Given the description of an element on the screen output the (x, y) to click on. 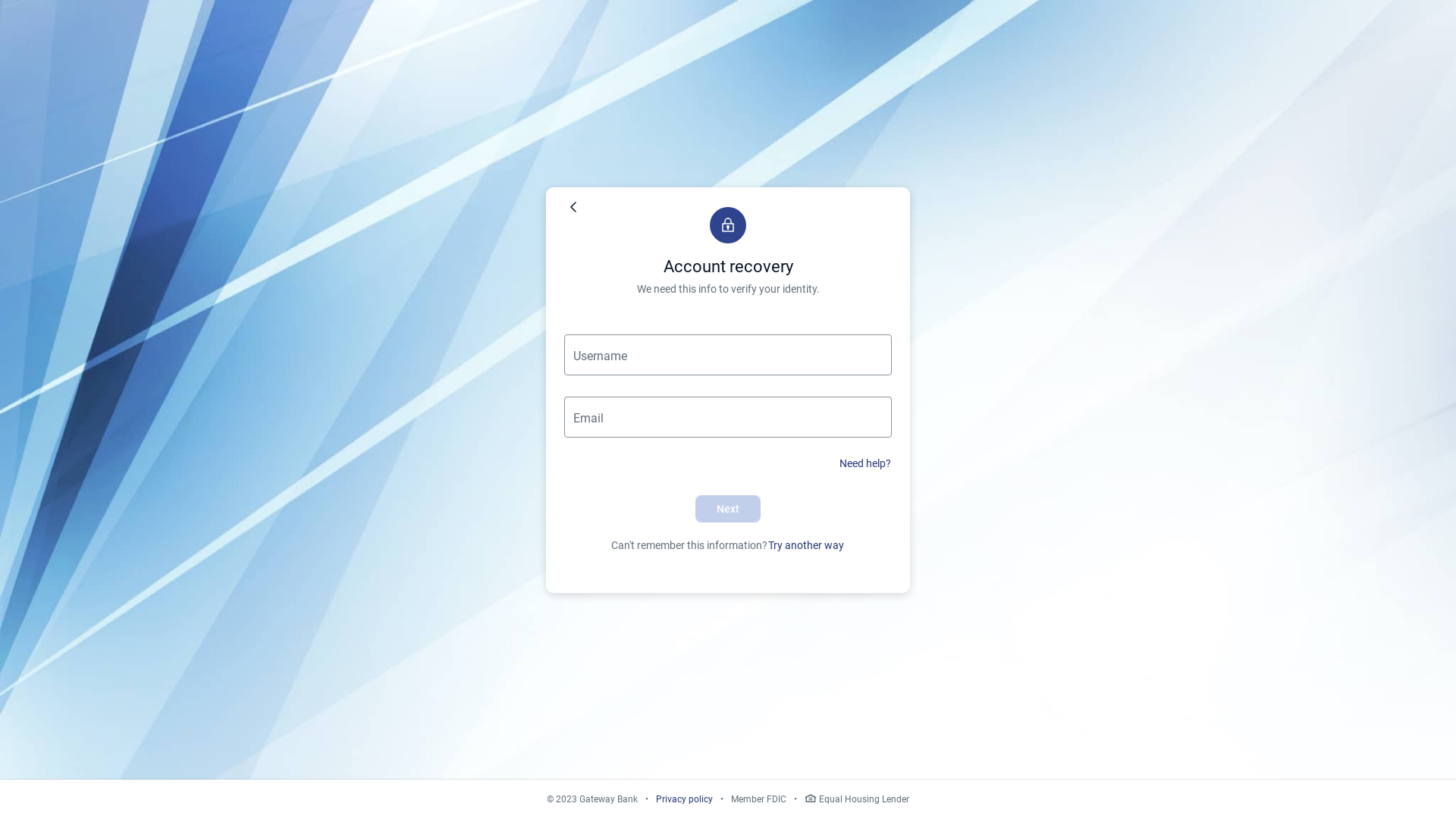
Email Element type: hover (727, 415)
Username Element type: hover (727, 353)
